Given the description of an element on the screen output the (x, y) to click on. 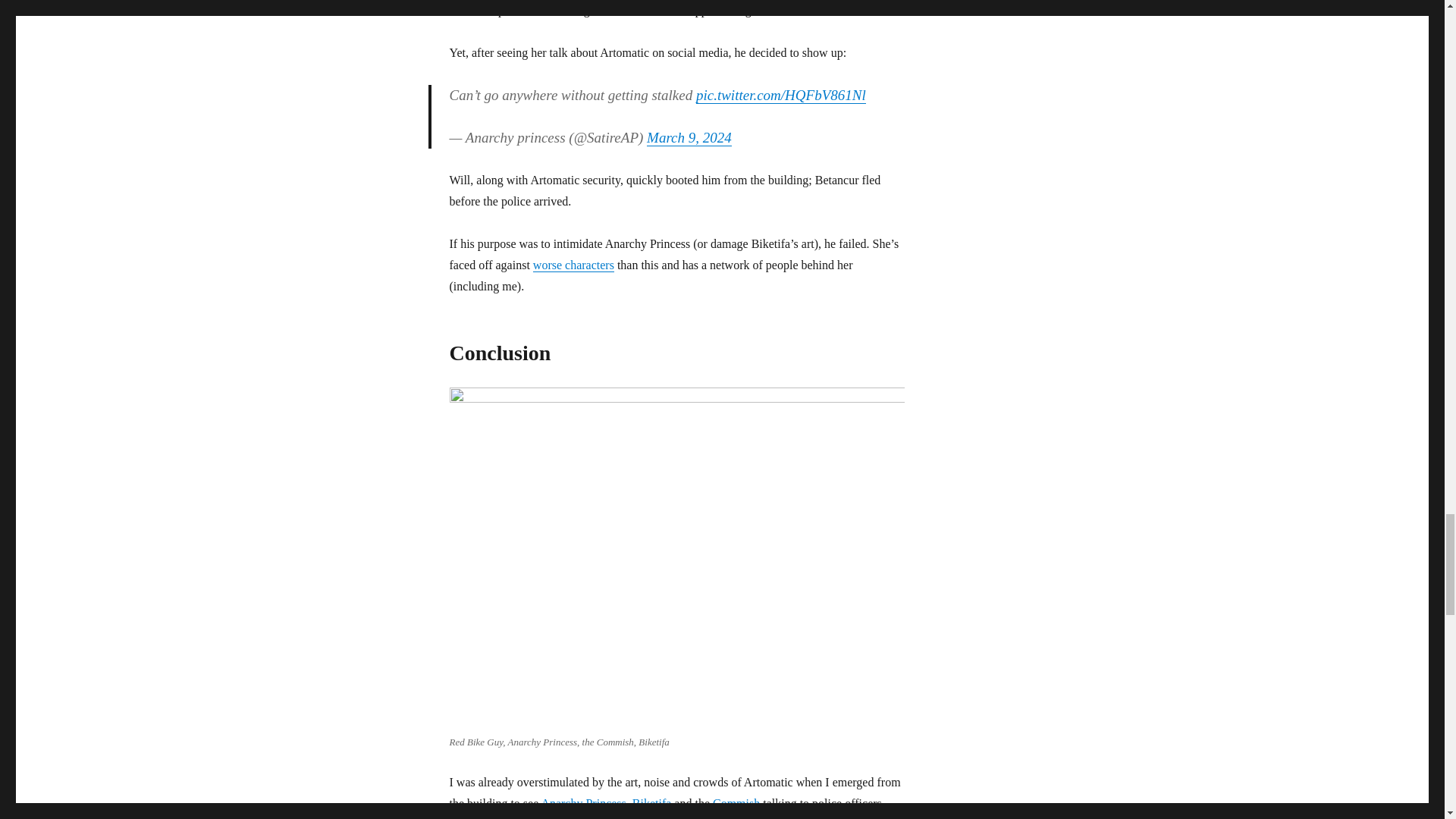
worse characters (573, 264)
Biketifa (651, 802)
Commish (736, 802)
Anarchy Princess (583, 802)
March 9, 2024 (689, 137)
